Given the description of an element on the screen output the (x, y) to click on. 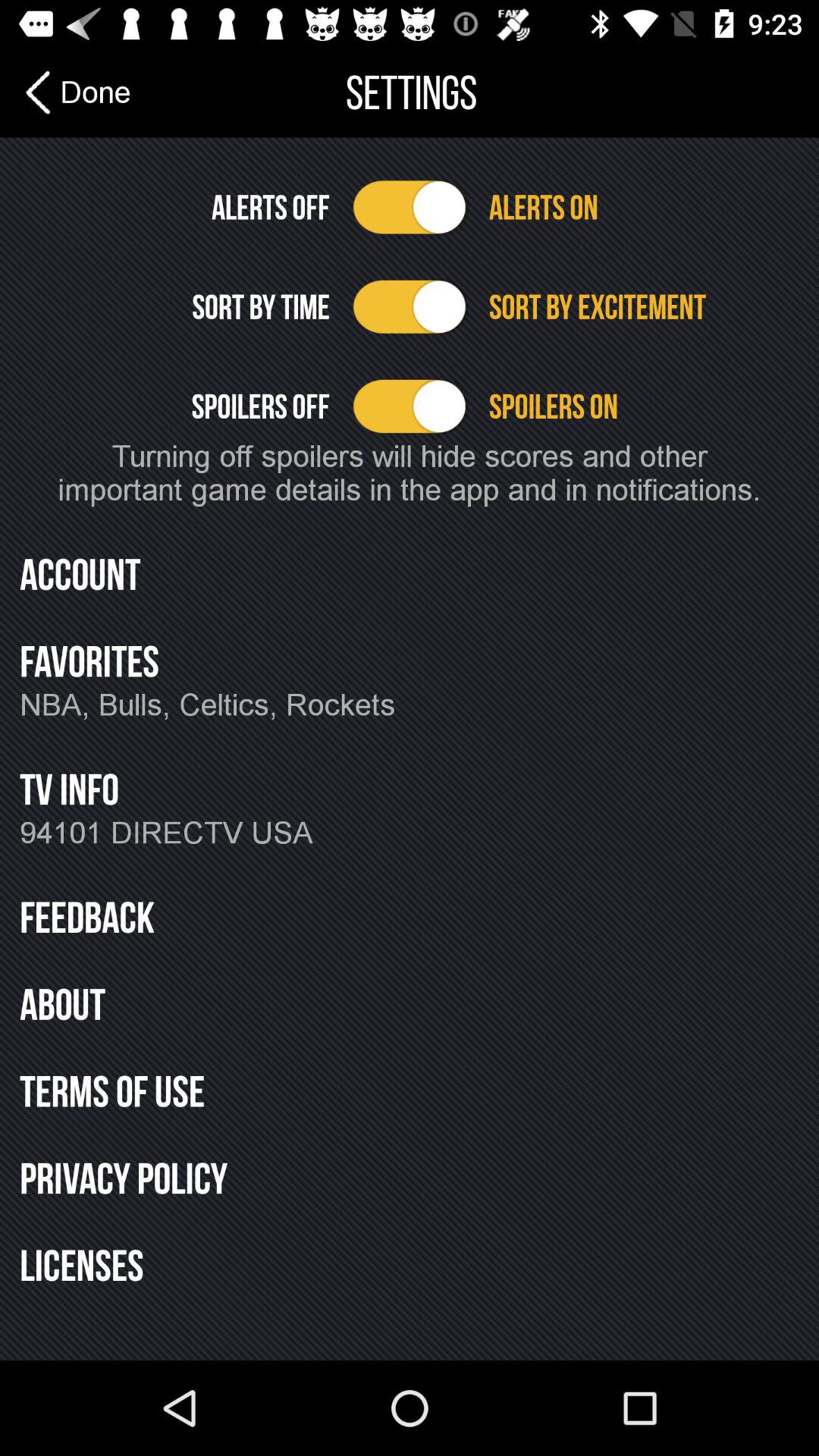
swipe until the alerts on icon (644, 206)
